Given the description of an element on the screen output the (x, y) to click on. 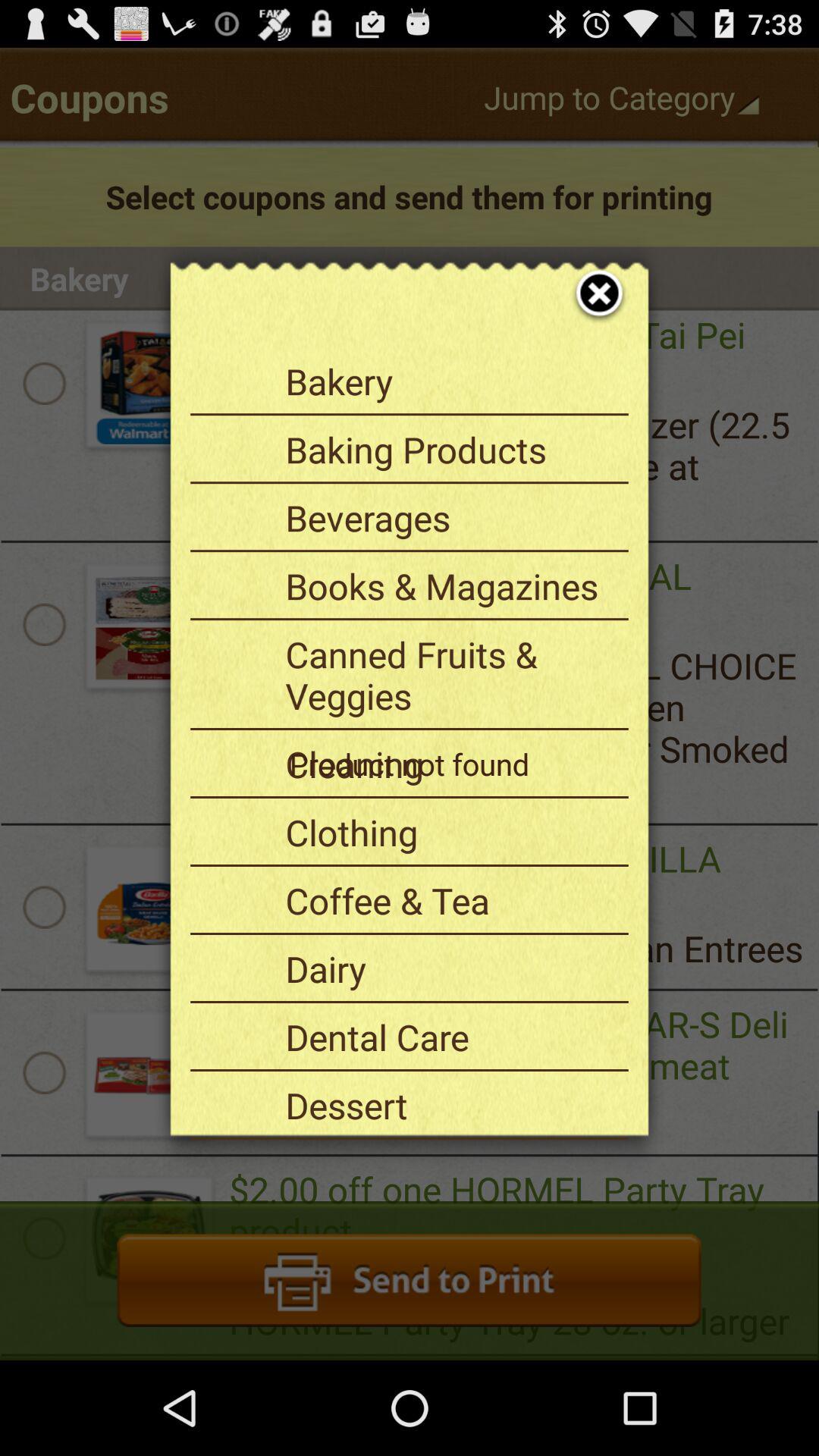
click icon at the top right corner (589, 275)
